Given the description of an element on the screen output the (x, y) to click on. 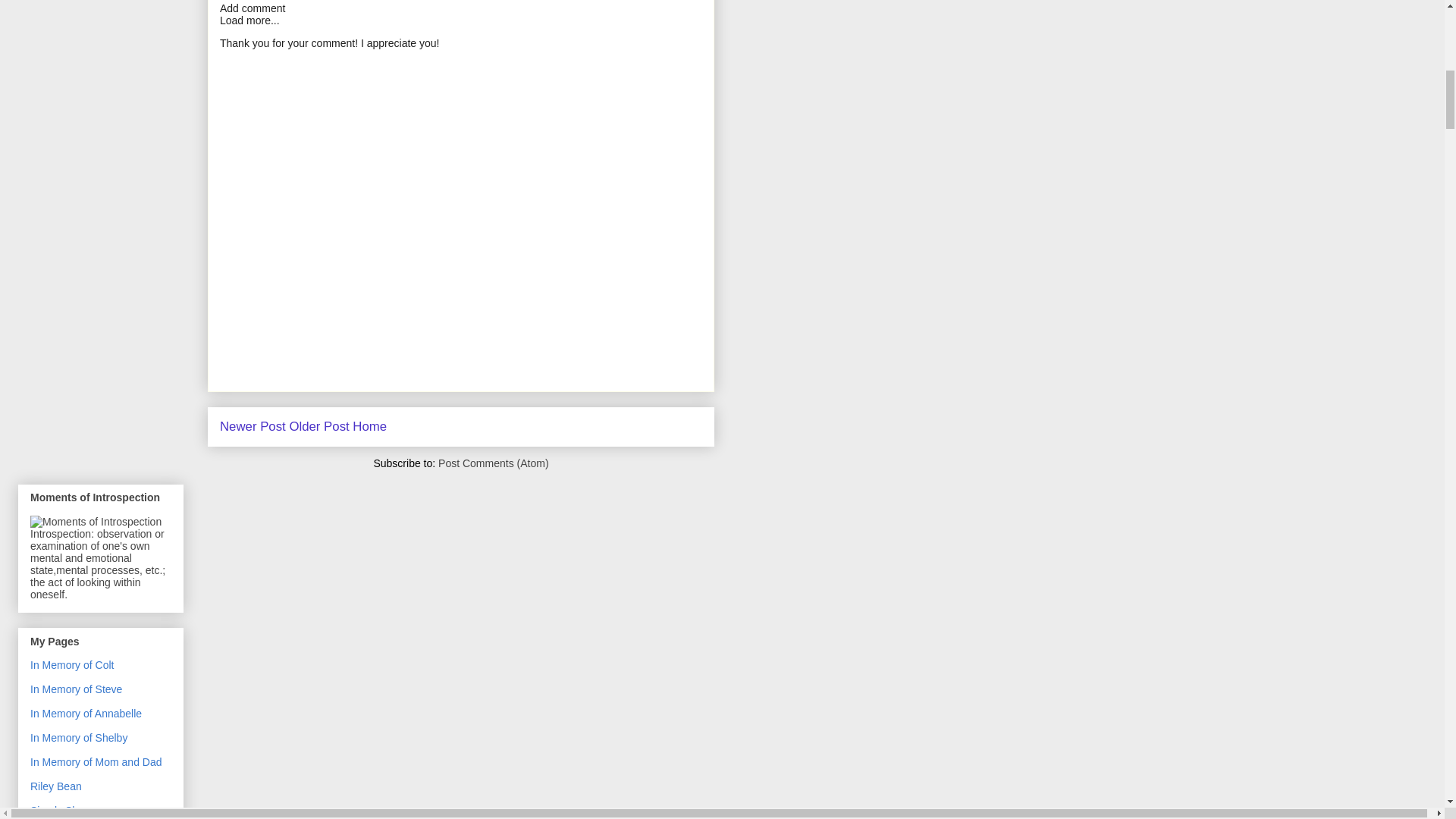
Add comment (252, 8)
Older Post (318, 426)
Newer Post (252, 426)
Home (369, 426)
Load more... (249, 20)
Older Post (318, 426)
Newer Post (252, 426)
